Given the description of an element on the screen output the (x, y) to click on. 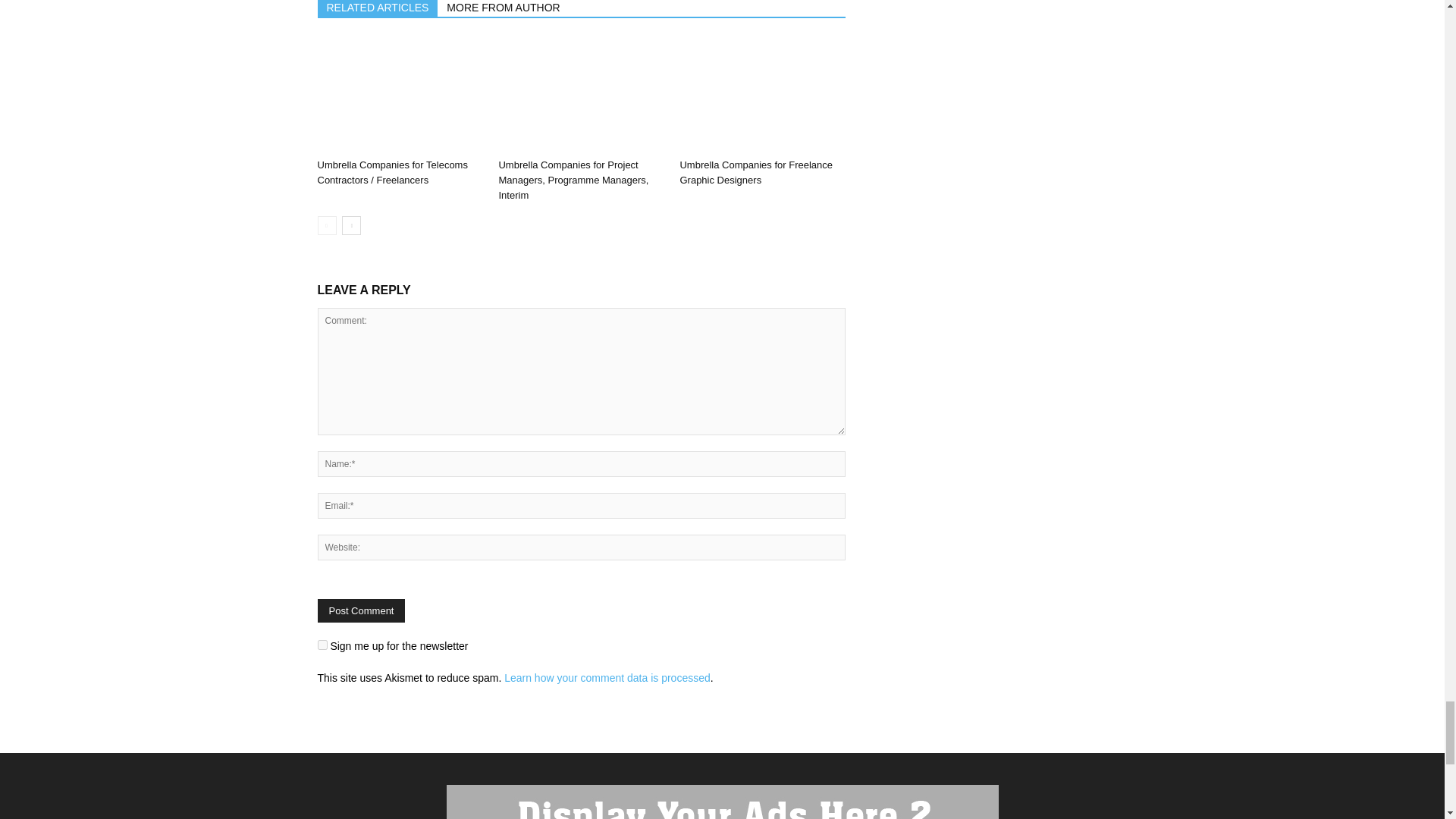
Umbrella Companies for Freelance Graphic Designers (761, 95)
Umbrella Companies for Freelance Graphic Designers (755, 171)
1 (321, 644)
Post Comment (360, 610)
